Given the description of an element on the screen output the (x, y) to click on. 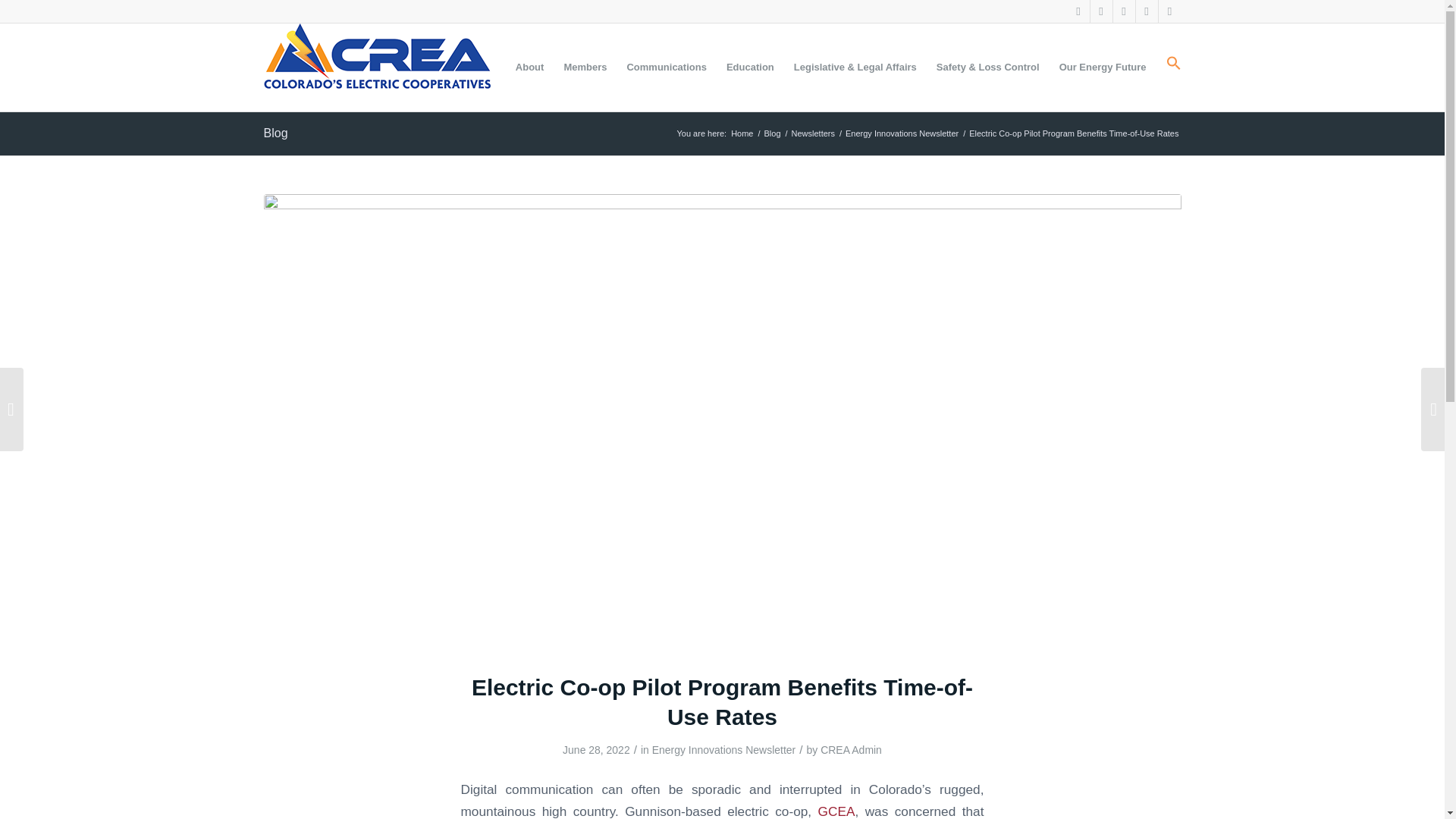
Posts by CREA Admin (851, 749)
Communications (665, 67)
X (1101, 11)
Youtube (1124, 11)
CREA Logo (377, 67)
CREA Logo (377, 59)
Blog (772, 133)
Colorado Rural Electric Association (742, 133)
Rss (1169, 11)
Permanent Link: Blog (275, 132)
